Given the description of an element on the screen output the (x, y) to click on. 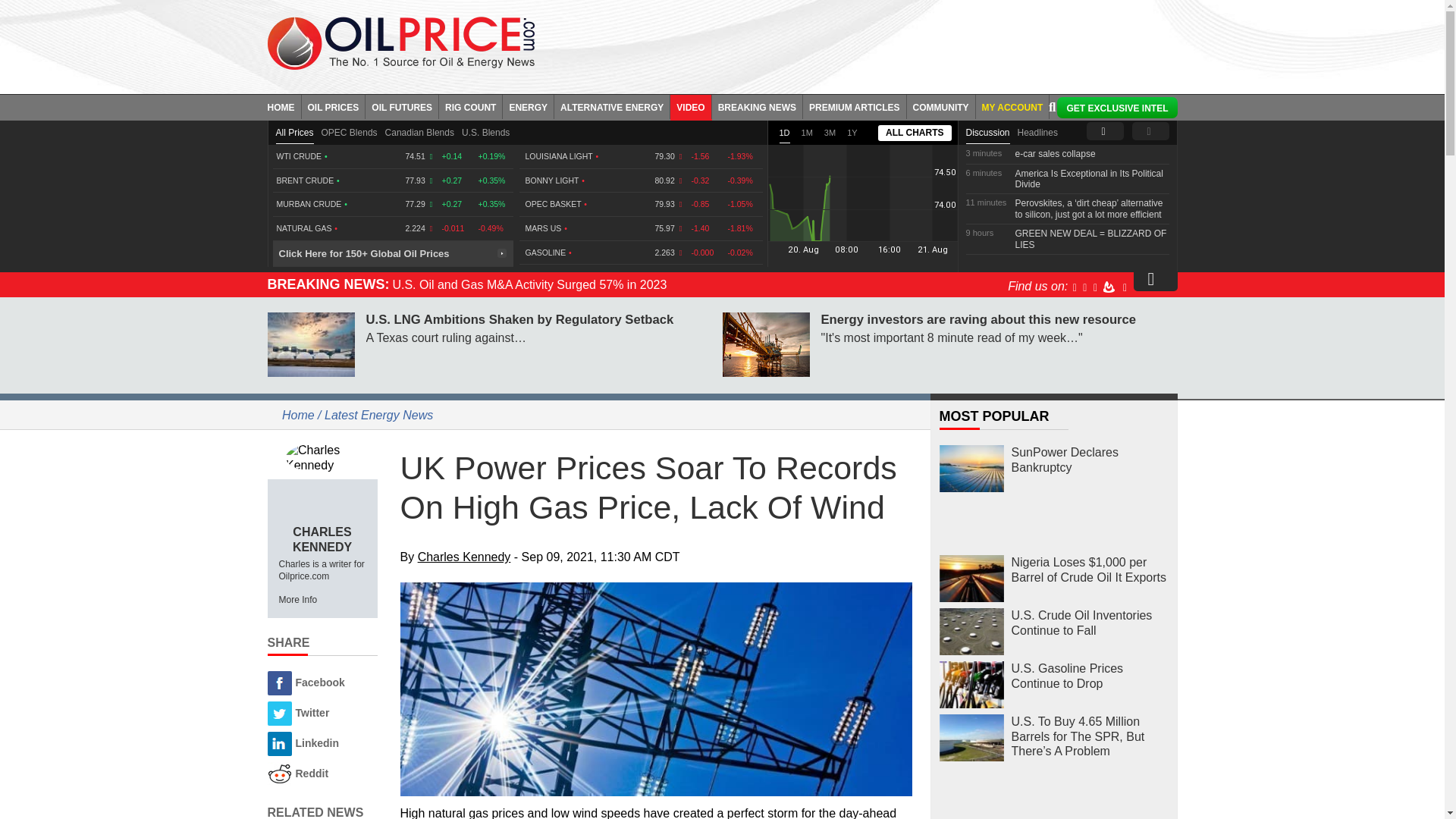
SunPower Declares Bankruptcy (971, 469)
HOME (283, 106)
COMMUNITY (941, 106)
ALTERNATIVE ENERGY (611, 106)
MY ACCOUNT (1012, 106)
U.S. LNG Ambitions Shaken by Regulatory Setback (309, 344)
RIG COUNT (470, 106)
ENERGY (528, 106)
PREMIUM ARTICLES (855, 106)
OIL PRICES (333, 106)
